Given the description of an element on the screen output the (x, y) to click on. 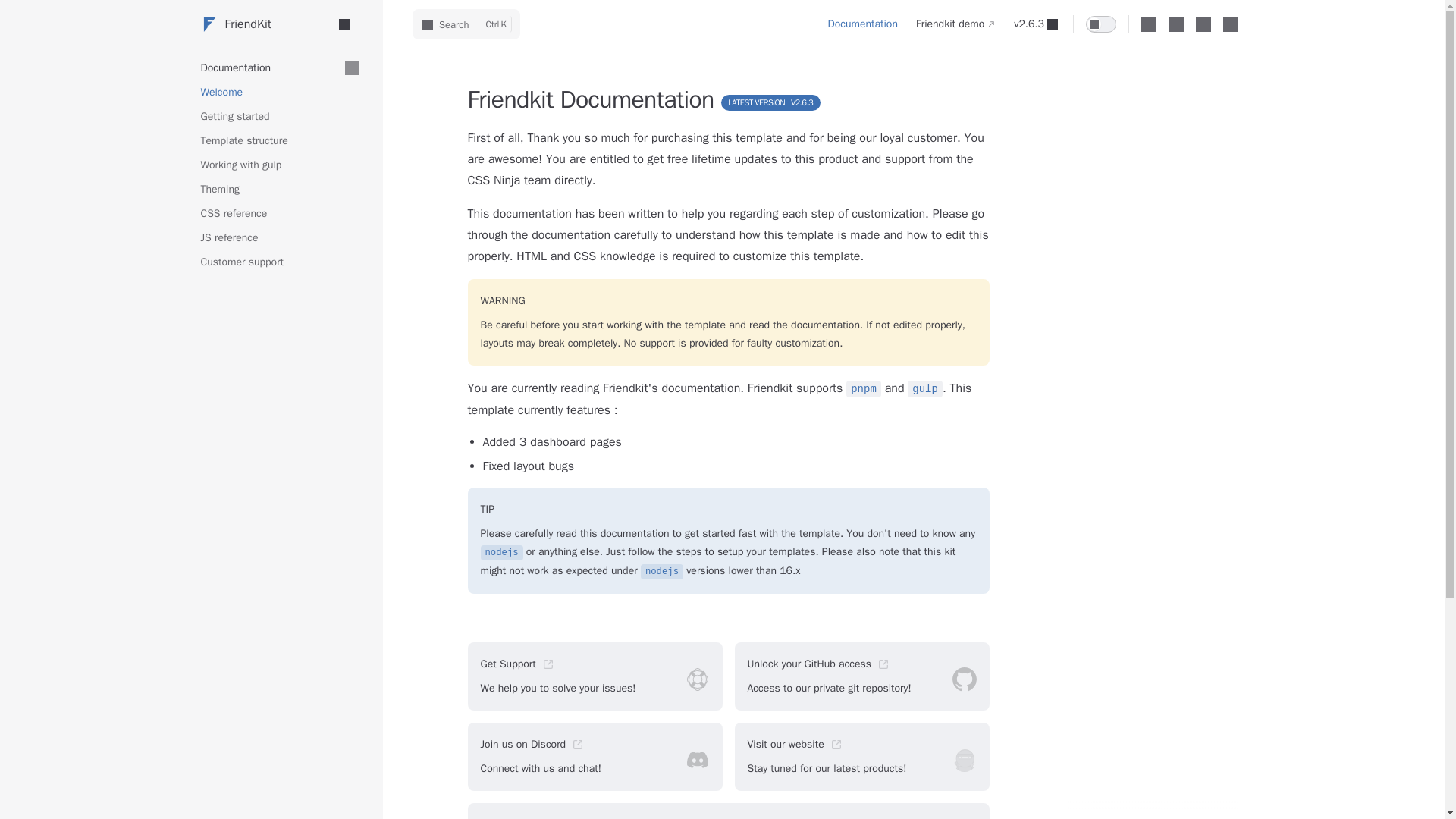
Customer support (465, 24)
Welcome (279, 262)
Skip to content (279, 92)
Theming (23, 16)
Documentation (279, 189)
JS reference (594, 676)
Template structure (862, 24)
FriendKit (279, 238)
Getting started (594, 756)
Friendkit demo (279, 140)
Working with gulp (263, 24)
